Given the description of an element on the screen output the (x, y) to click on. 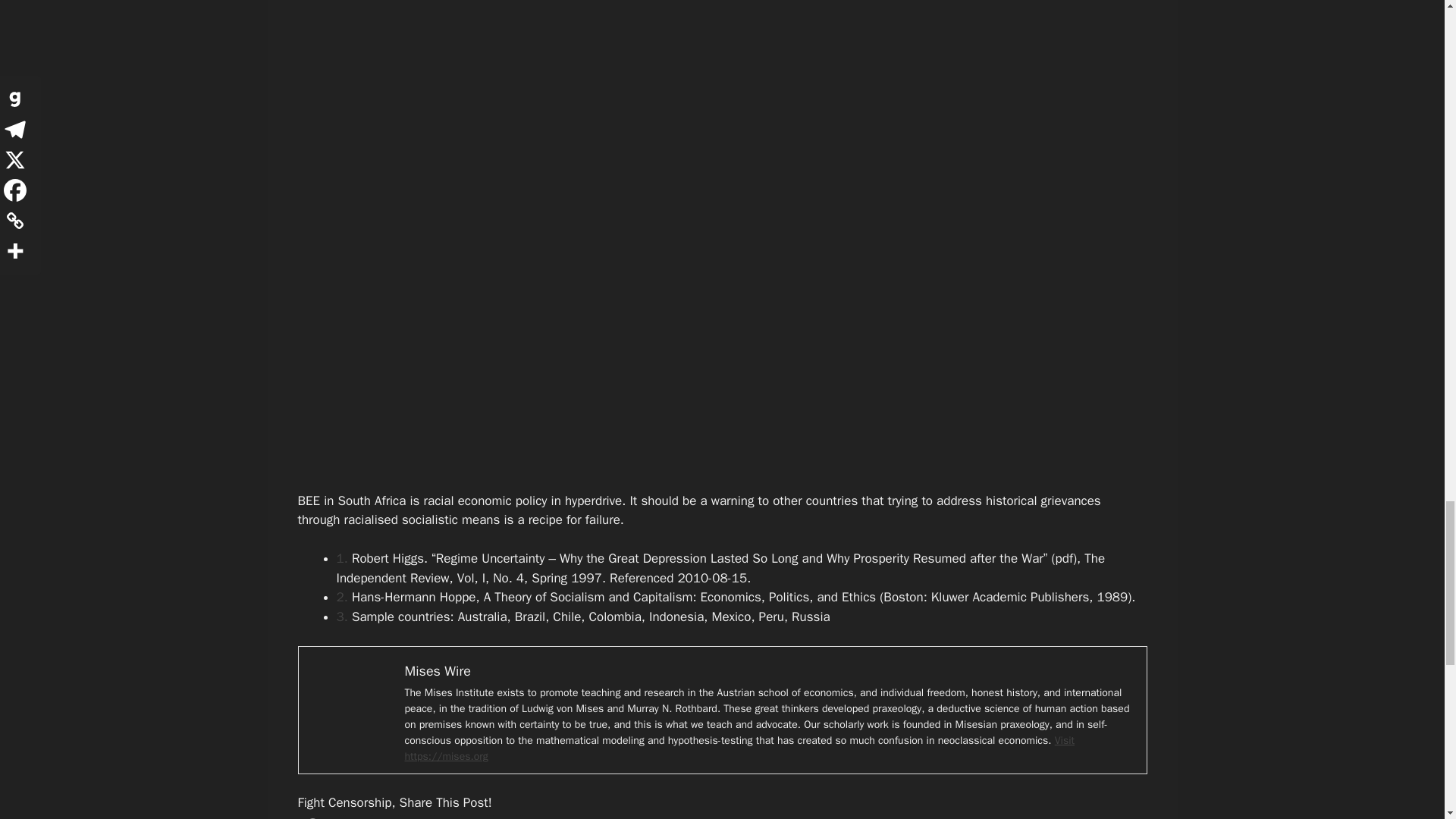
Mises Wire (437, 670)
